Given the description of an element on the screen output the (x, y) to click on. 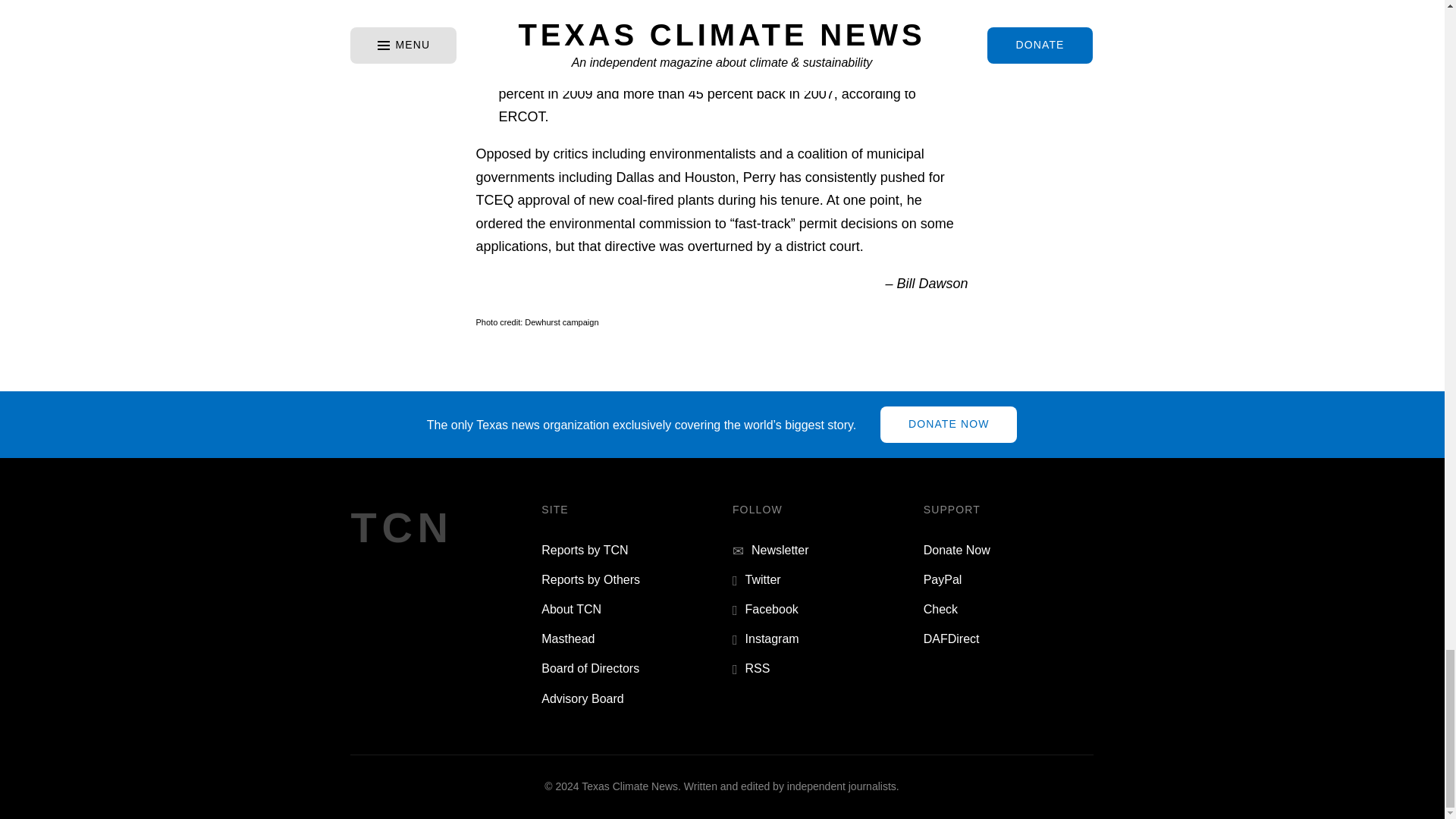
Reports by TCN (584, 549)
Reports by Others (590, 579)
DONATE NOW (948, 424)
About TCN (571, 608)
Masthead (567, 638)
